Given the description of an element on the screen output the (x, y) to click on. 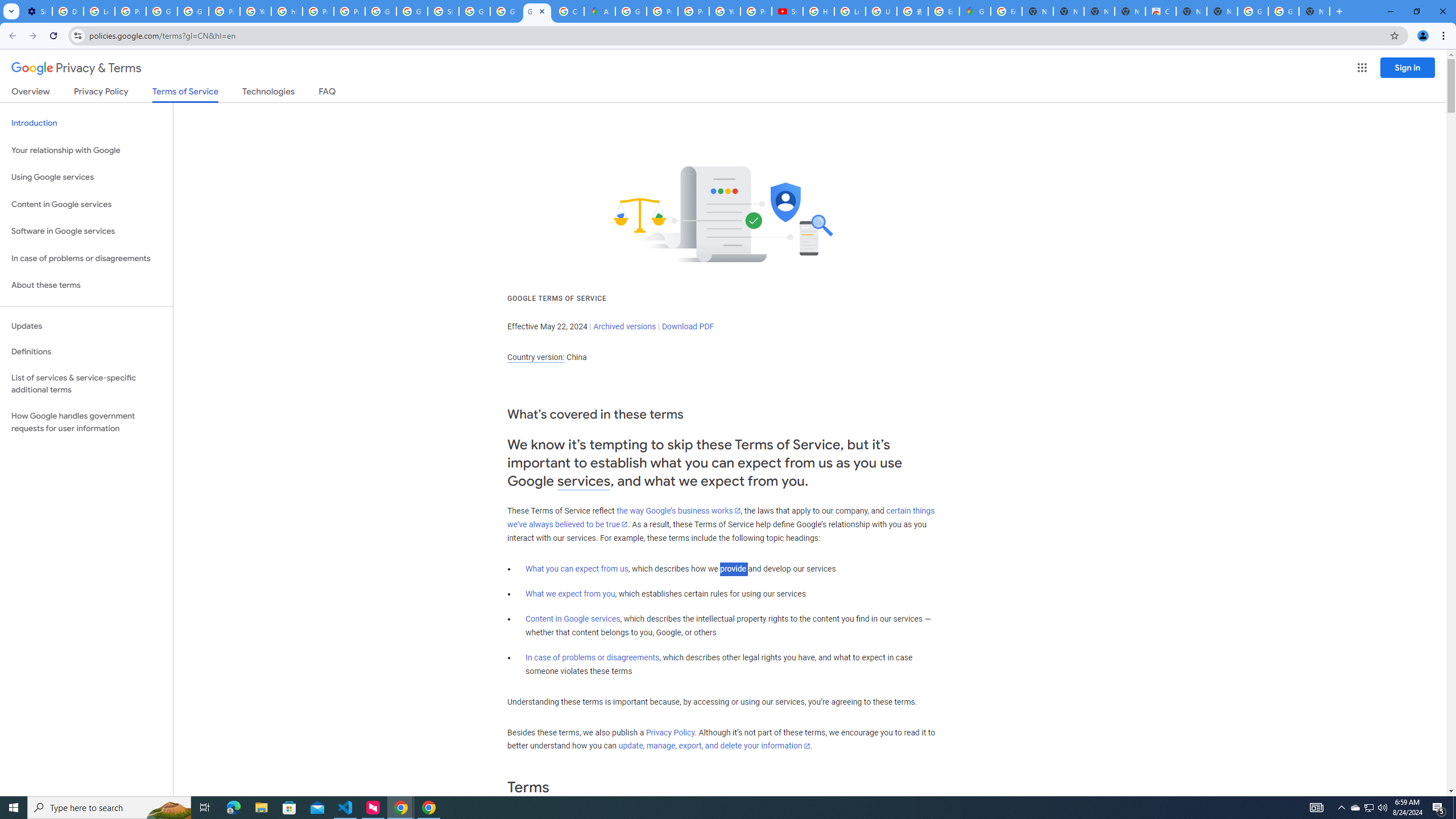
Sign in - Google Accounts (443, 11)
Google Images (1283, 11)
Privacy Help Center - Policies Help (693, 11)
Download PDF (687, 326)
Subscriptions - YouTube (787, 11)
Privacy Help Center - Policies Help (318, 11)
Google Account Help (161, 11)
